Given the description of an element on the screen output the (x, y) to click on. 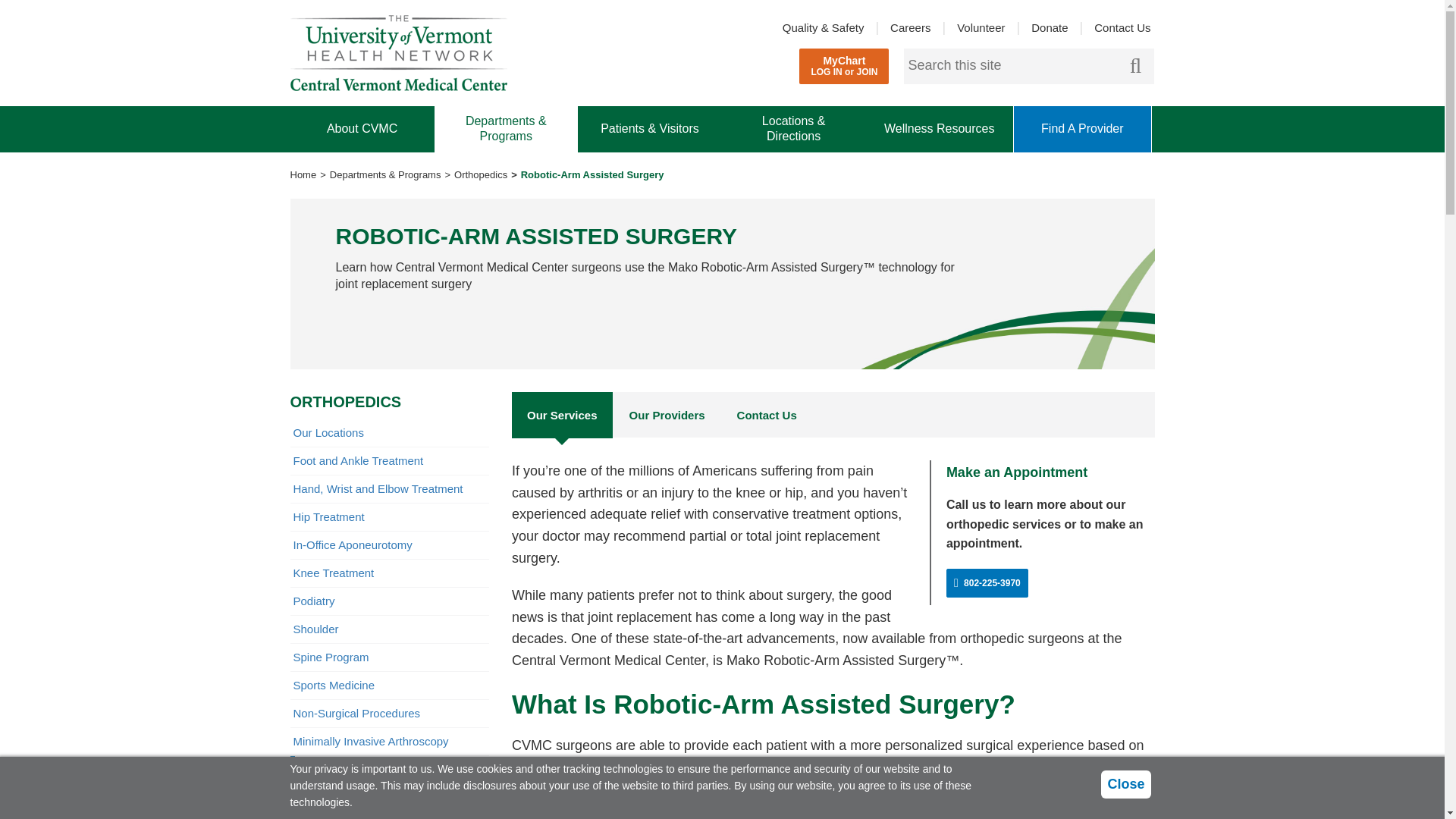
Careers (910, 27)
Contact Us (843, 66)
Volunteer (1122, 27)
Donate (981, 27)
About CVMC (1049, 27)
